Given the description of an element on the screen output the (x, y) to click on. 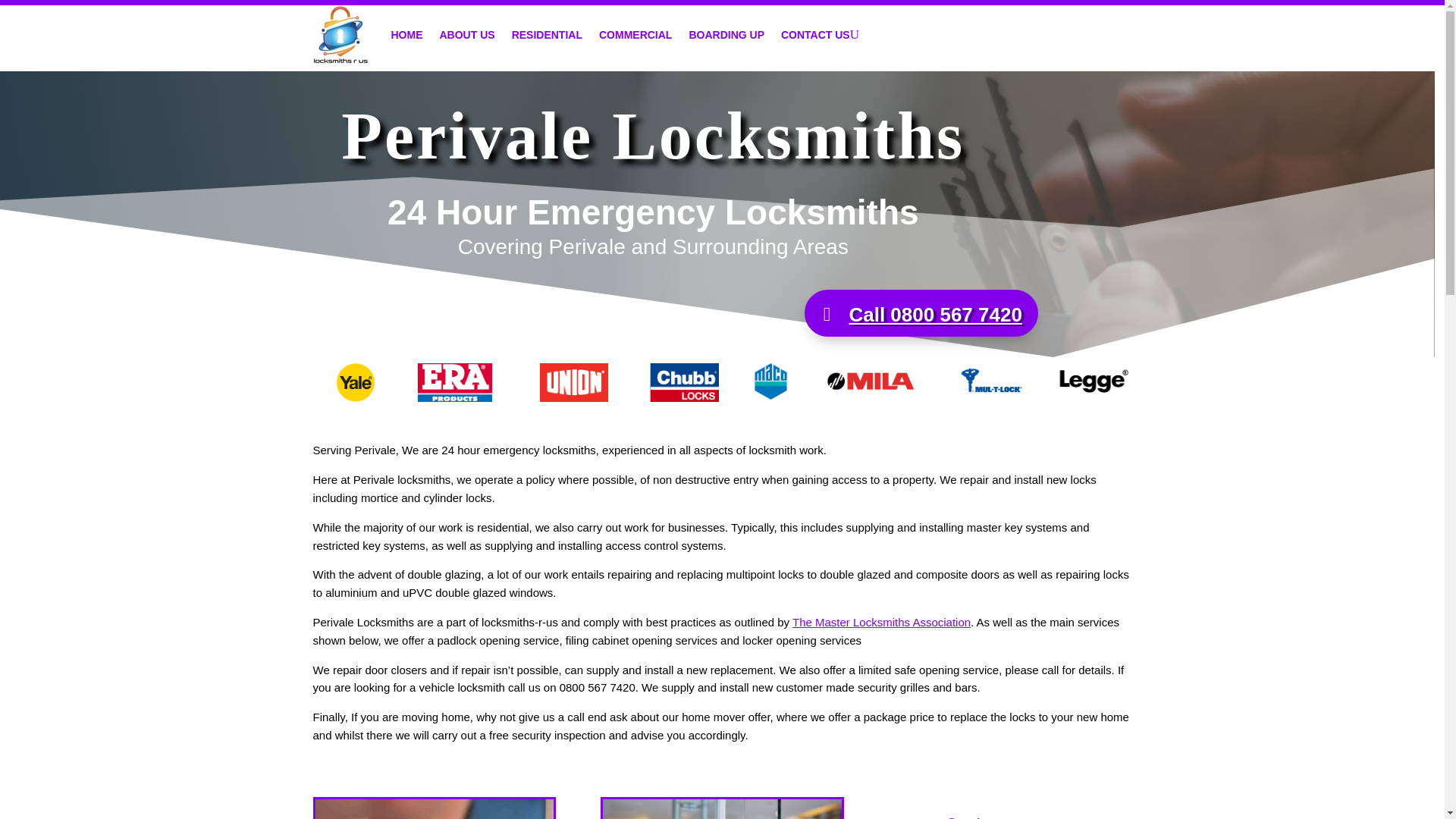
RESIDENTIAL (547, 33)
CONTACT US (815, 33)
ABOUT US (467, 33)
Master Locksmiths (881, 621)
COMMERCIAL (634, 33)
HOME (407, 33)
Call 0800 567 7420 (920, 312)
BOARDING UP (726, 33)
The Master Locksmiths Association (881, 621)
